Given the description of an element on the screen output the (x, y) to click on. 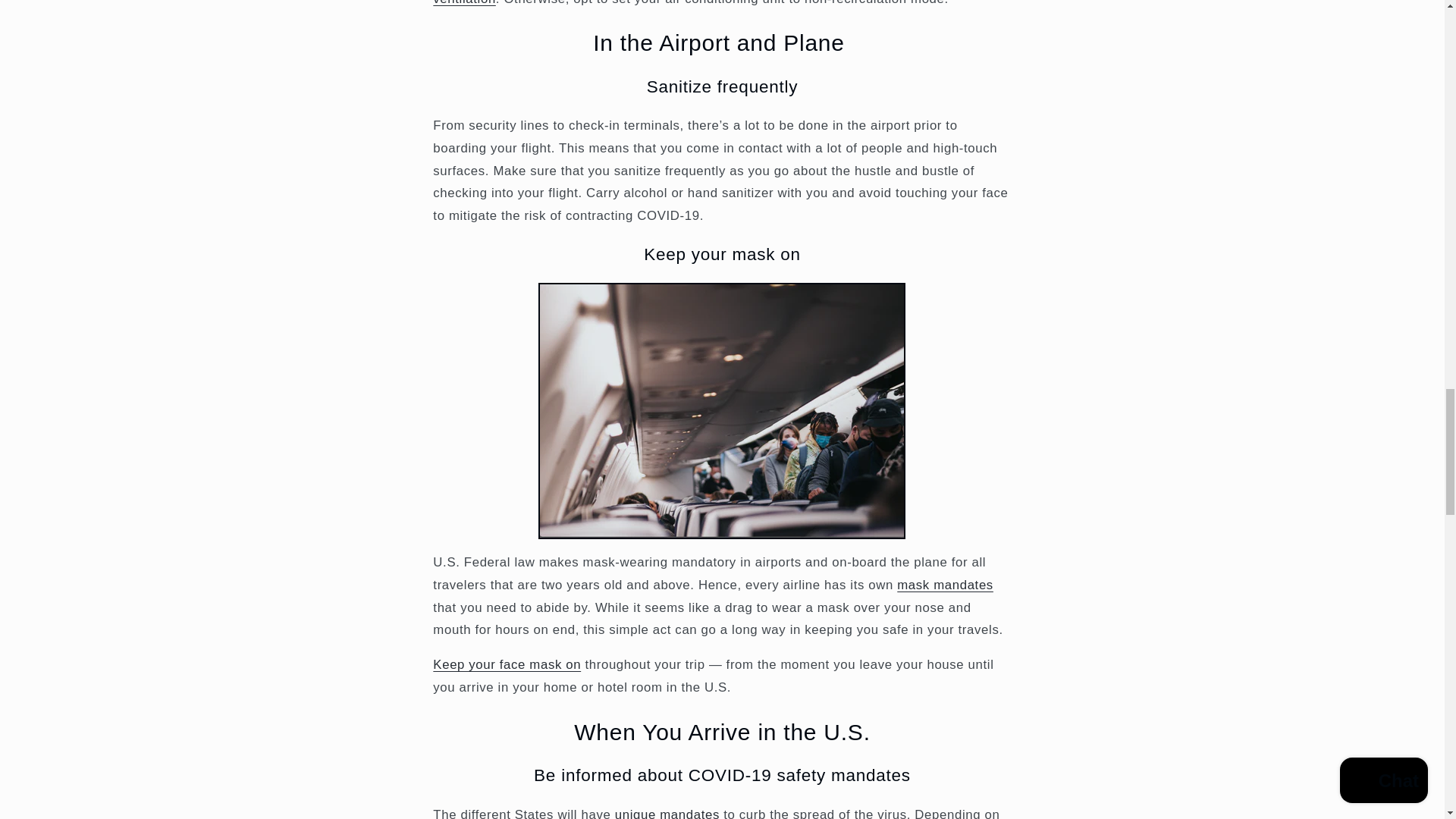
unique mandates (668, 813)
mask mandates (944, 585)
Keep your face mask on (506, 664)
